Given the description of an element on the screen output the (x, y) to click on. 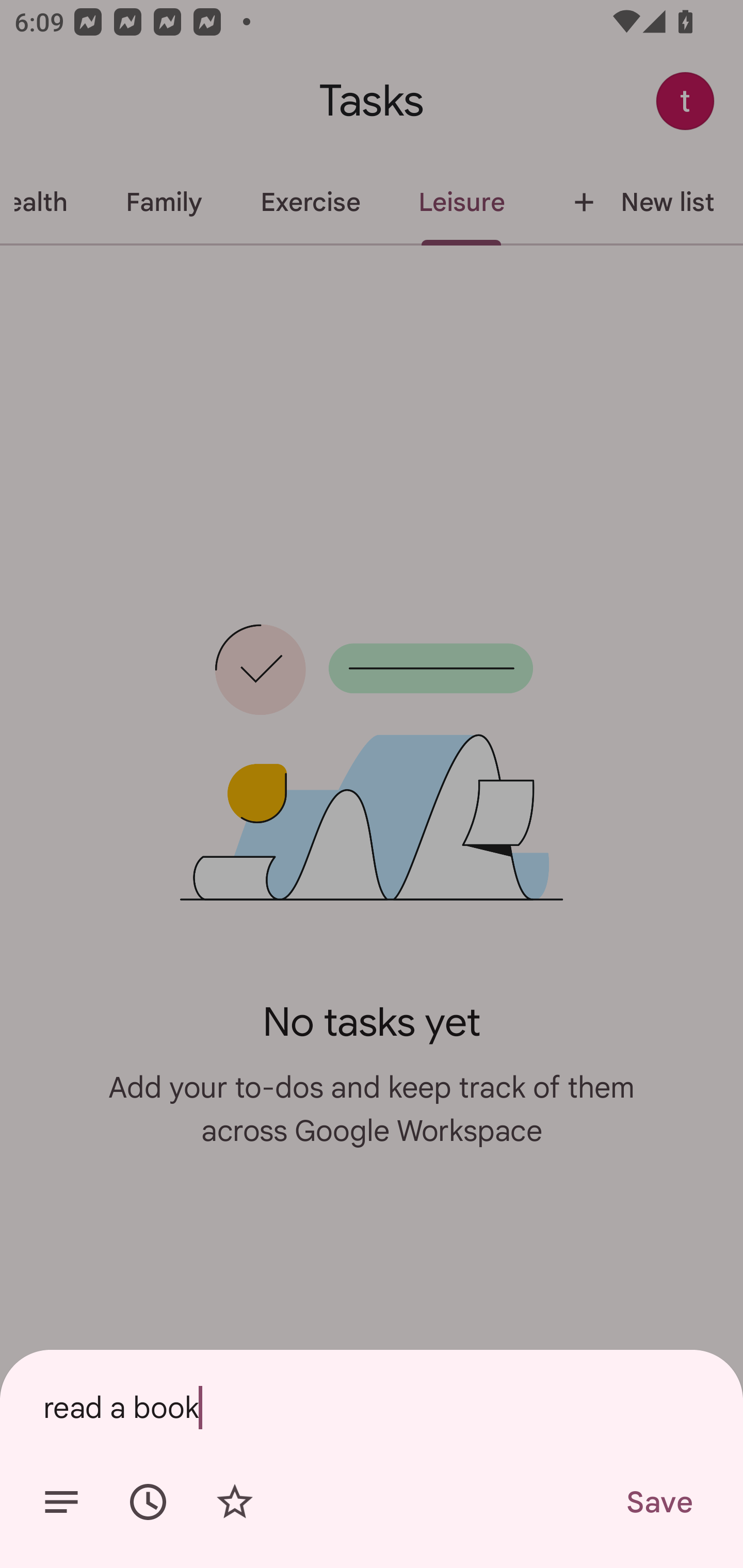
read a book (371, 1407)
Save (659, 1501)
Add details (60, 1501)
Set date/time (147, 1501)
Add star (234, 1501)
